Given the description of an element on the screen output the (x, y) to click on. 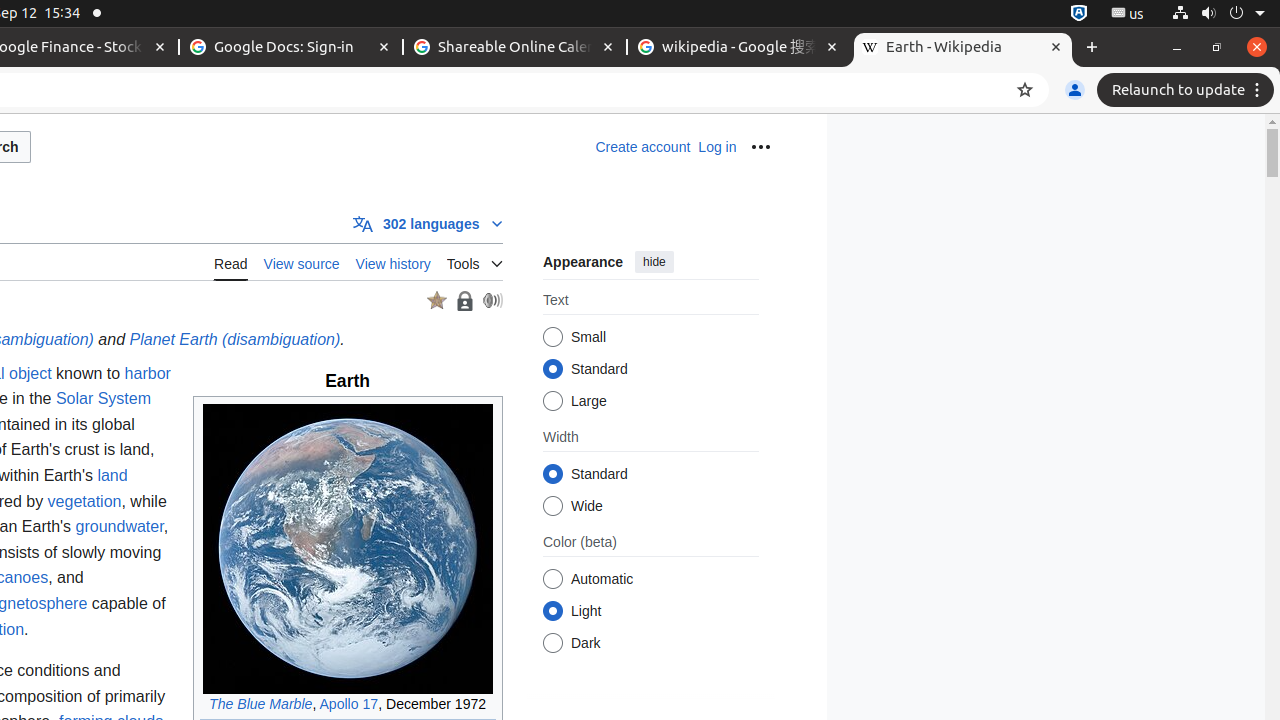
Solar System Element type: link (103, 399)
Relaunch to update Element type: push-button (1188, 90)
vegetation Element type: link (84, 501)
Small Element type: radio-button (552, 337)
